Given the description of an element on the screen output the (x, y) to click on. 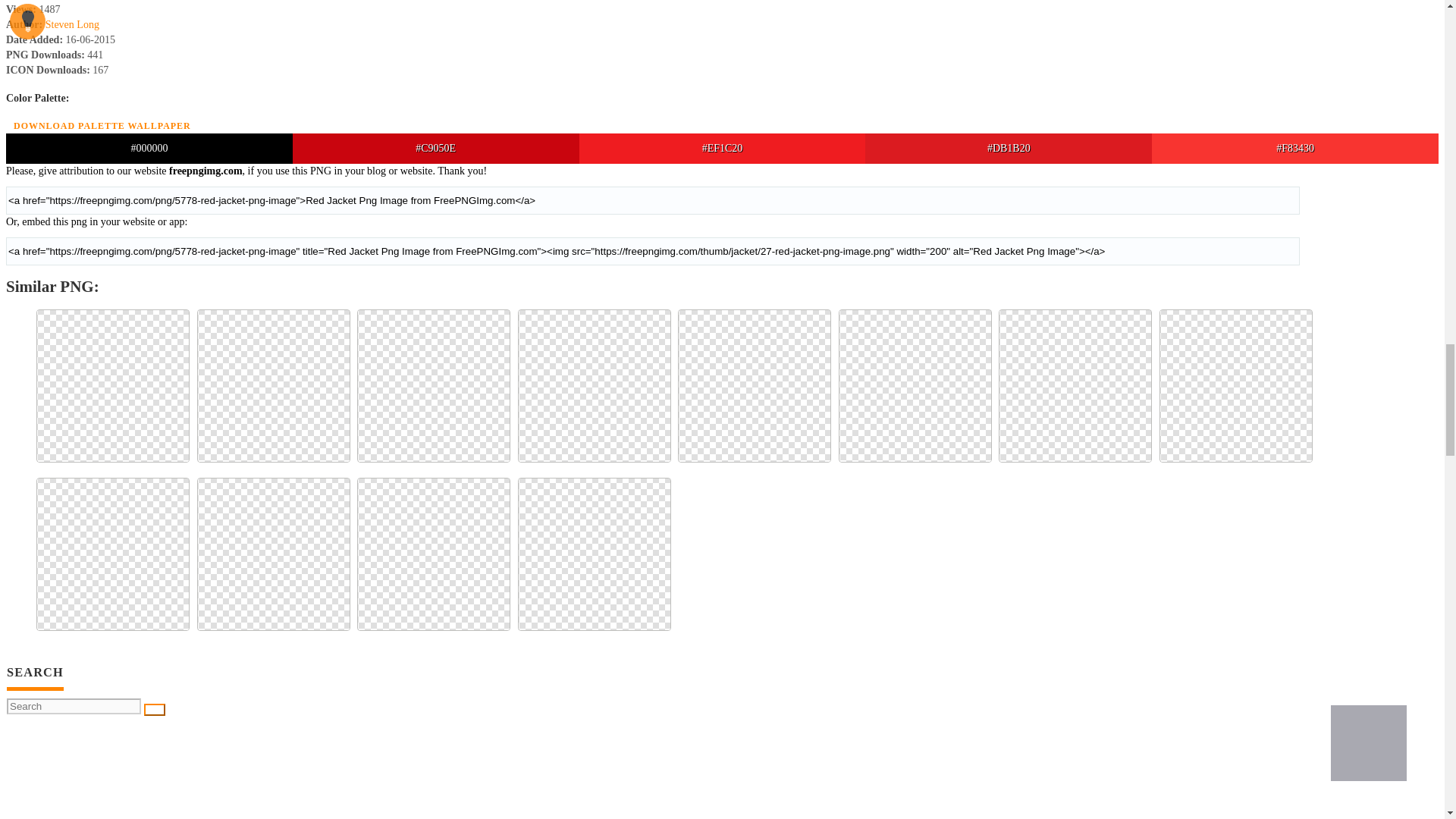
Advertisement (721, 775)
